Given the description of an element on the screen output the (x, y) to click on. 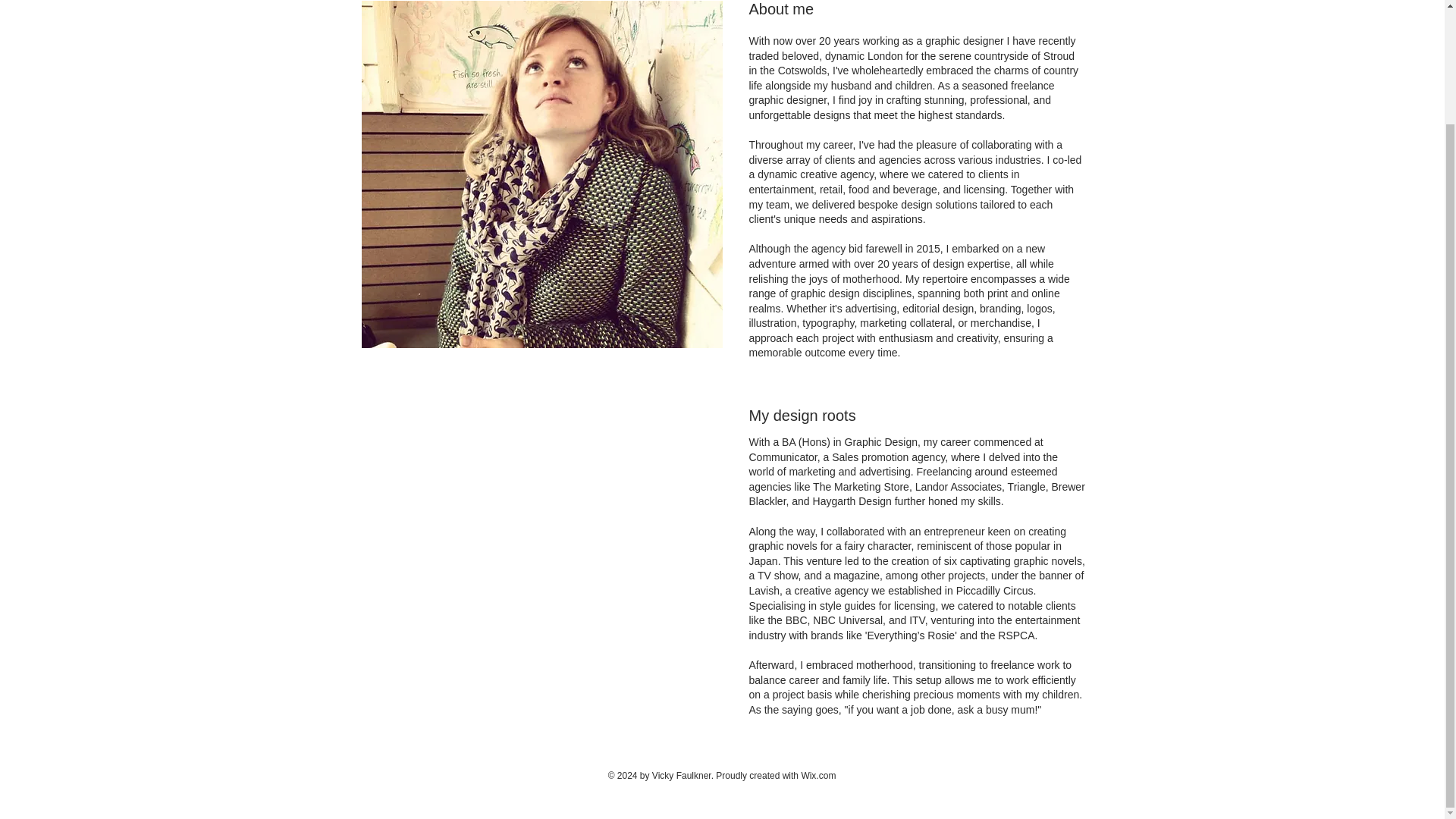
Wix.com (817, 775)
